Given the description of an element on the screen output the (x, y) to click on. 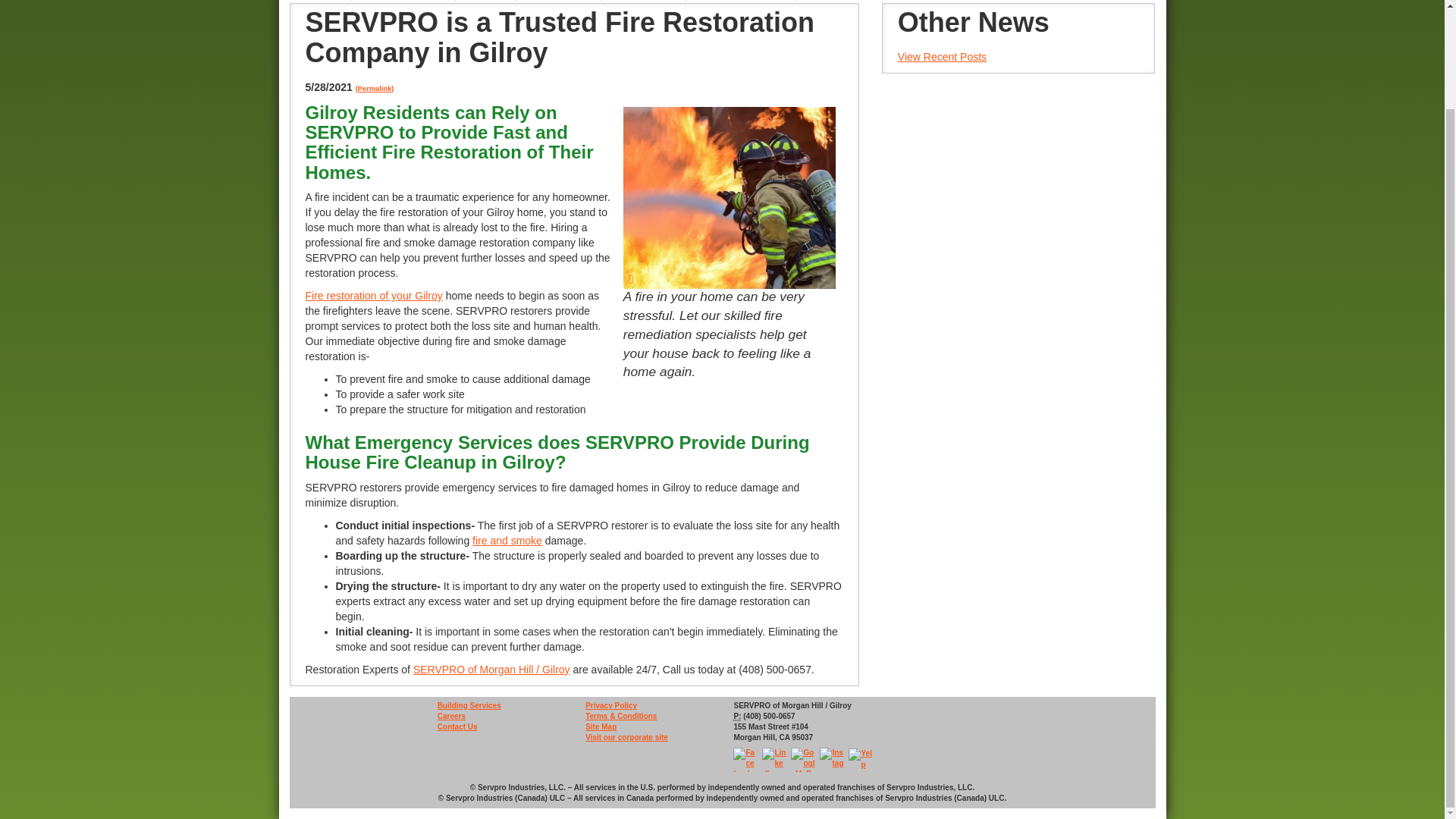
MOLD (485, 1)
CLEANING (558, 1)
HOME (319, 1)
ABOUT US (643, 1)
